Given the description of an element on the screen output the (x, y) to click on. 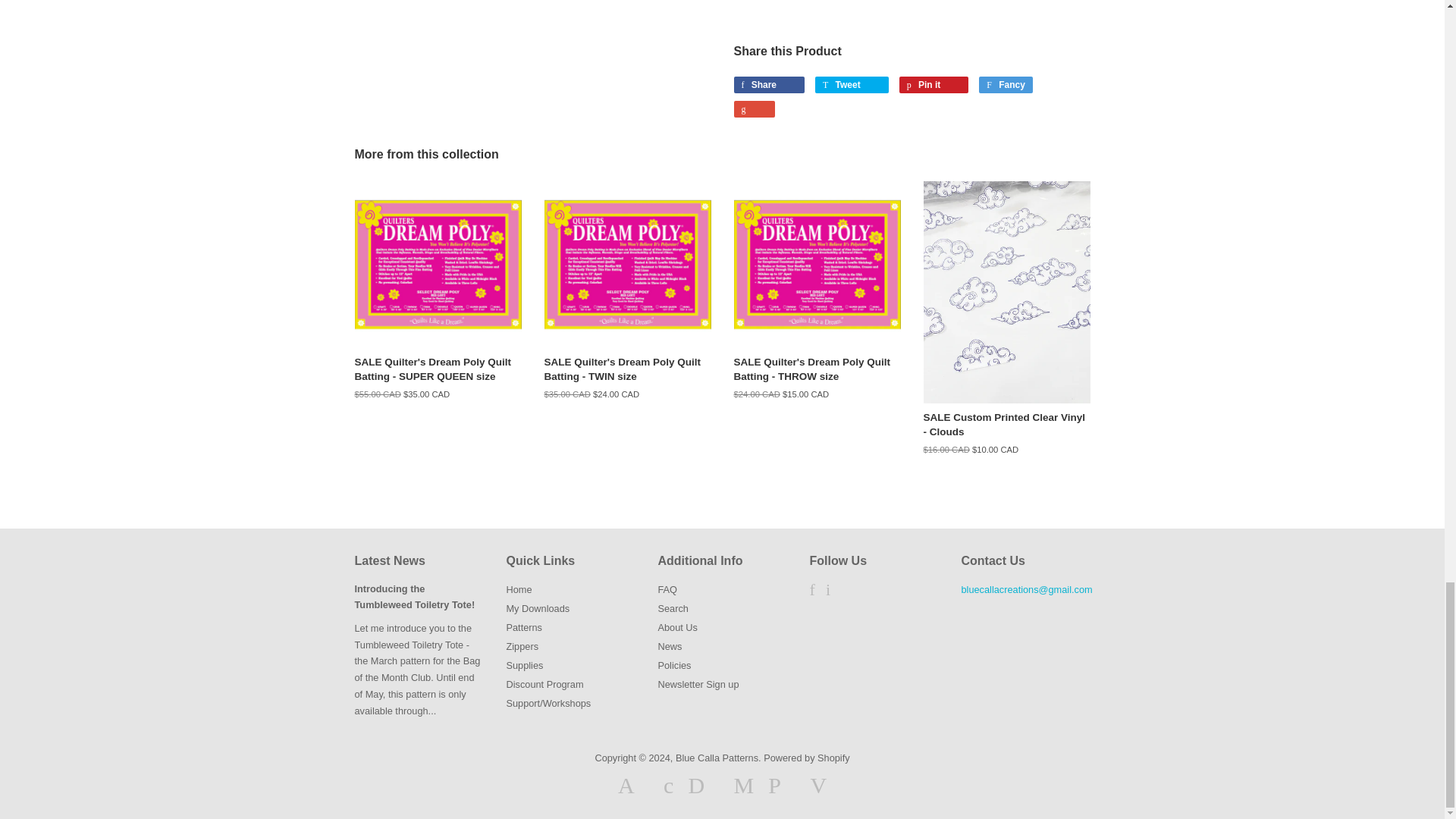
Blue Calla Patterns on Instagram (827, 591)
Blue Calla Patterns on Facebook (812, 591)
